Given the description of an element on the screen output the (x, y) to click on. 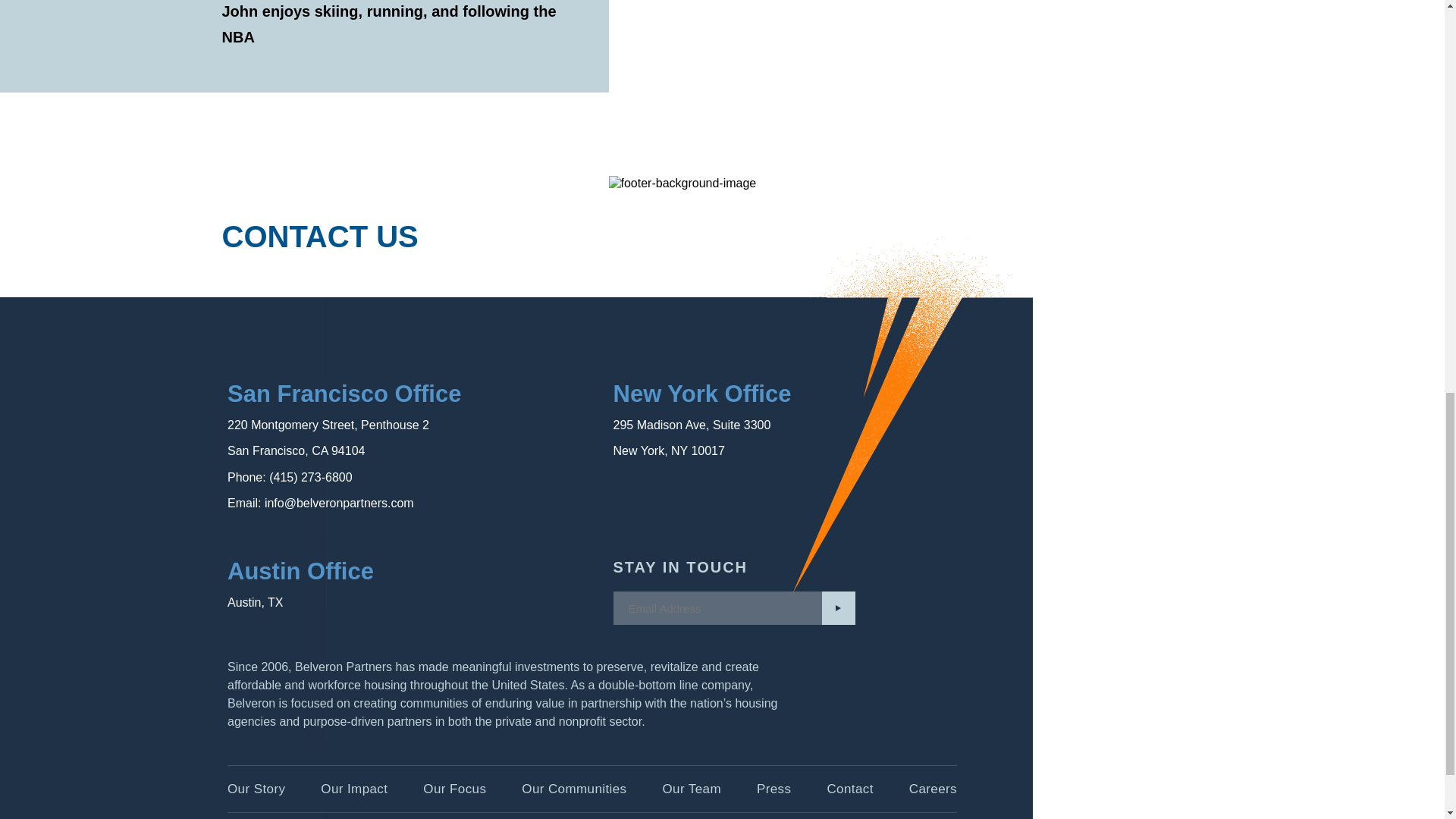
Our Focus (454, 789)
Our Communities (573, 789)
Our Team (691, 789)
Our Story (256, 789)
Contact (849, 789)
Submit (839, 607)
Press (773, 789)
Our Impact (353, 789)
Careers (932, 789)
